Given the description of an element on the screen output the (x, y) to click on. 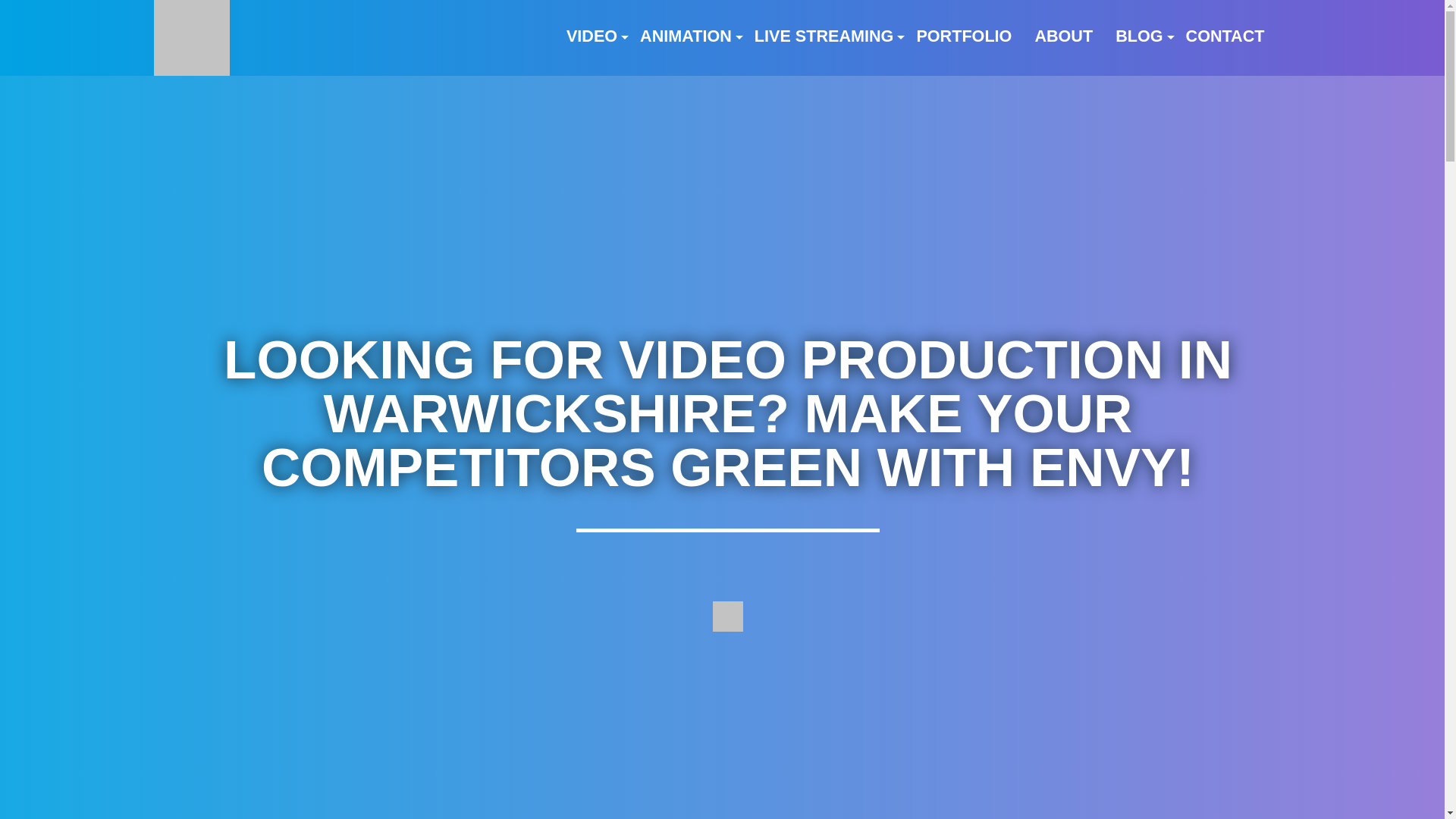
ANIMATION (685, 36)
VIDEO (591, 36)
CONTACT (1225, 36)
ABOUT (1063, 36)
LIVE STREAMING (823, 36)
PORTFOLIO (963, 36)
BLOG (1138, 36)
